Given the description of an element on the screen output the (x, y) to click on. 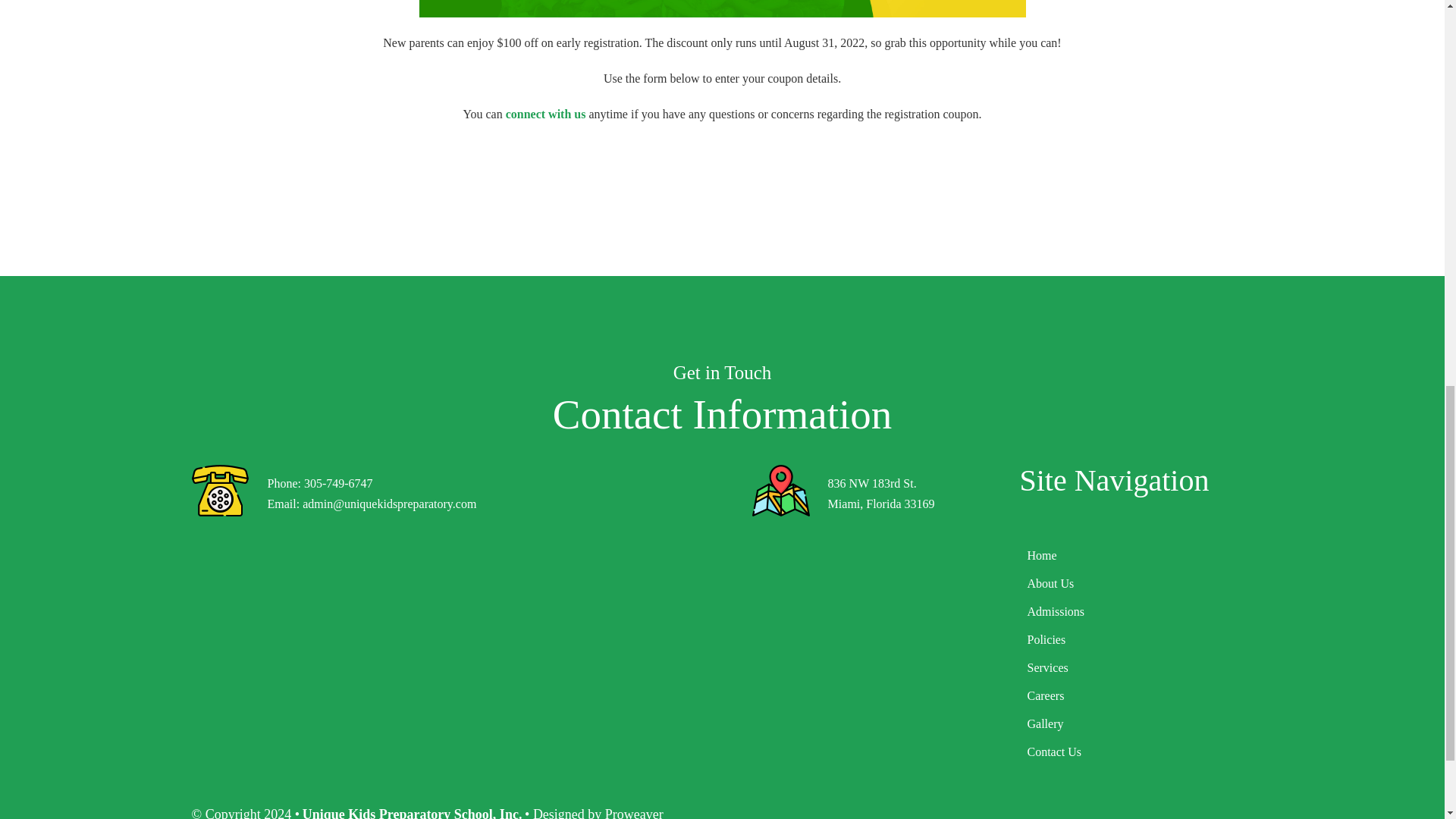
Policies (1135, 639)
connect with us (545, 113)
Proweaver (634, 812)
Home (1135, 555)
About Us (1135, 583)
Admissions (1135, 611)
